Given the description of an element on the screen output the (x, y) to click on. 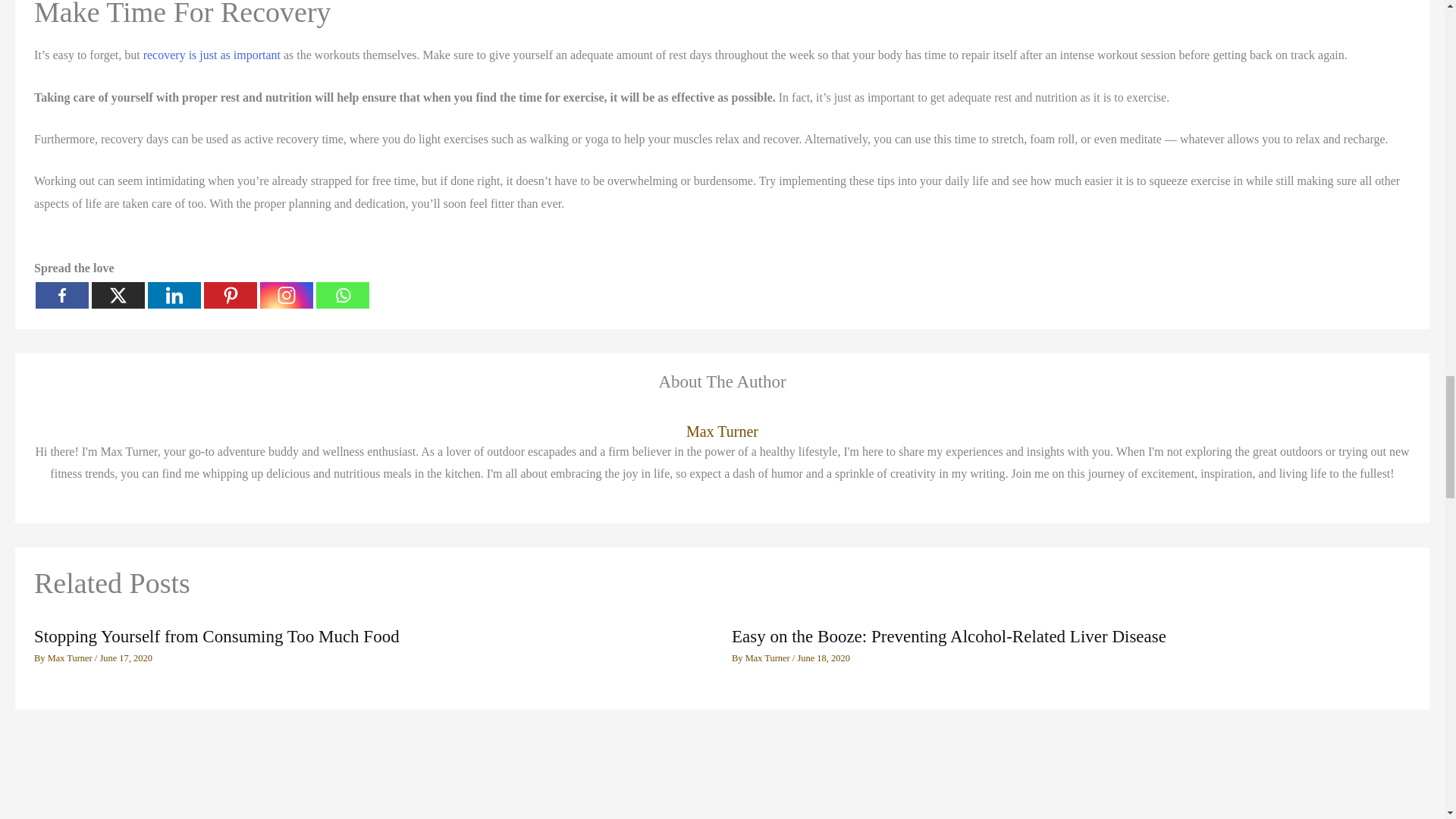
recovery is just as important (211, 54)
Easy on the Booze: Preventing Alcohol-Related Liver Disease (949, 636)
Linkedin (174, 294)
Stopping Yourself from Consuming Too Much Food (215, 636)
Max Turner (721, 431)
Max Turner (71, 657)
Facebook (61, 294)
Max Turner (768, 657)
X (117, 294)
